Given the description of an element on the screen output the (x, y) to click on. 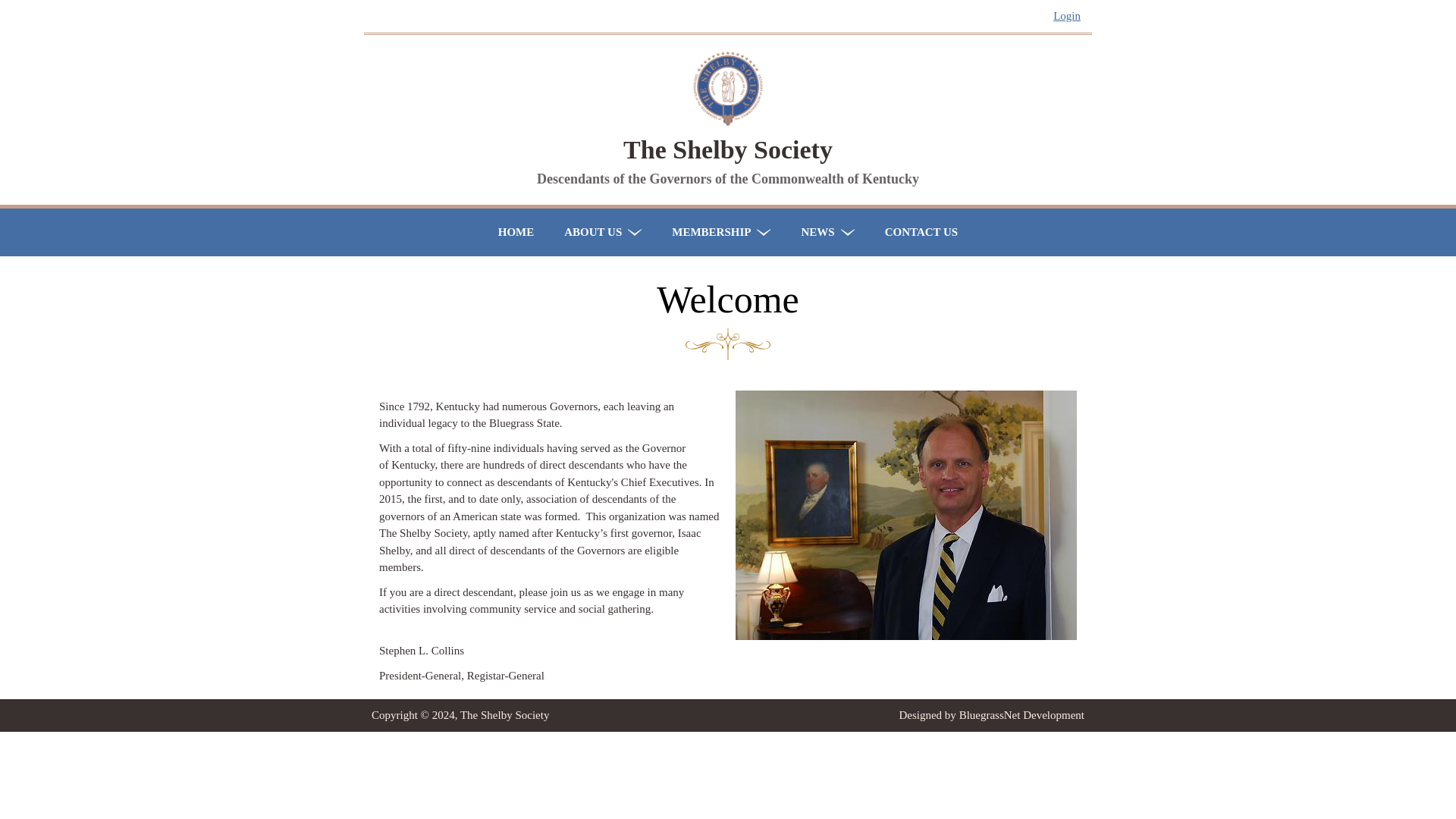
Home (727, 121)
Login (1066, 15)
CONTACT US (921, 232)
HOME (516, 232)
The Shelby Society (727, 149)
Home (727, 149)
BluegrassNet Development (1021, 715)
